Given the description of an element on the screen output the (x, y) to click on. 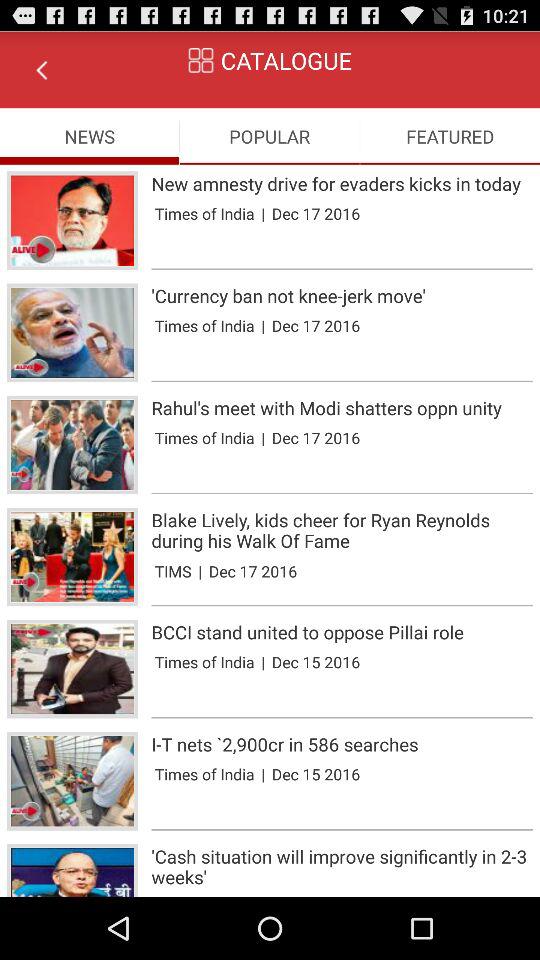
press the app below times of india icon (342, 717)
